Given the description of an element on the screen output the (x, y) to click on. 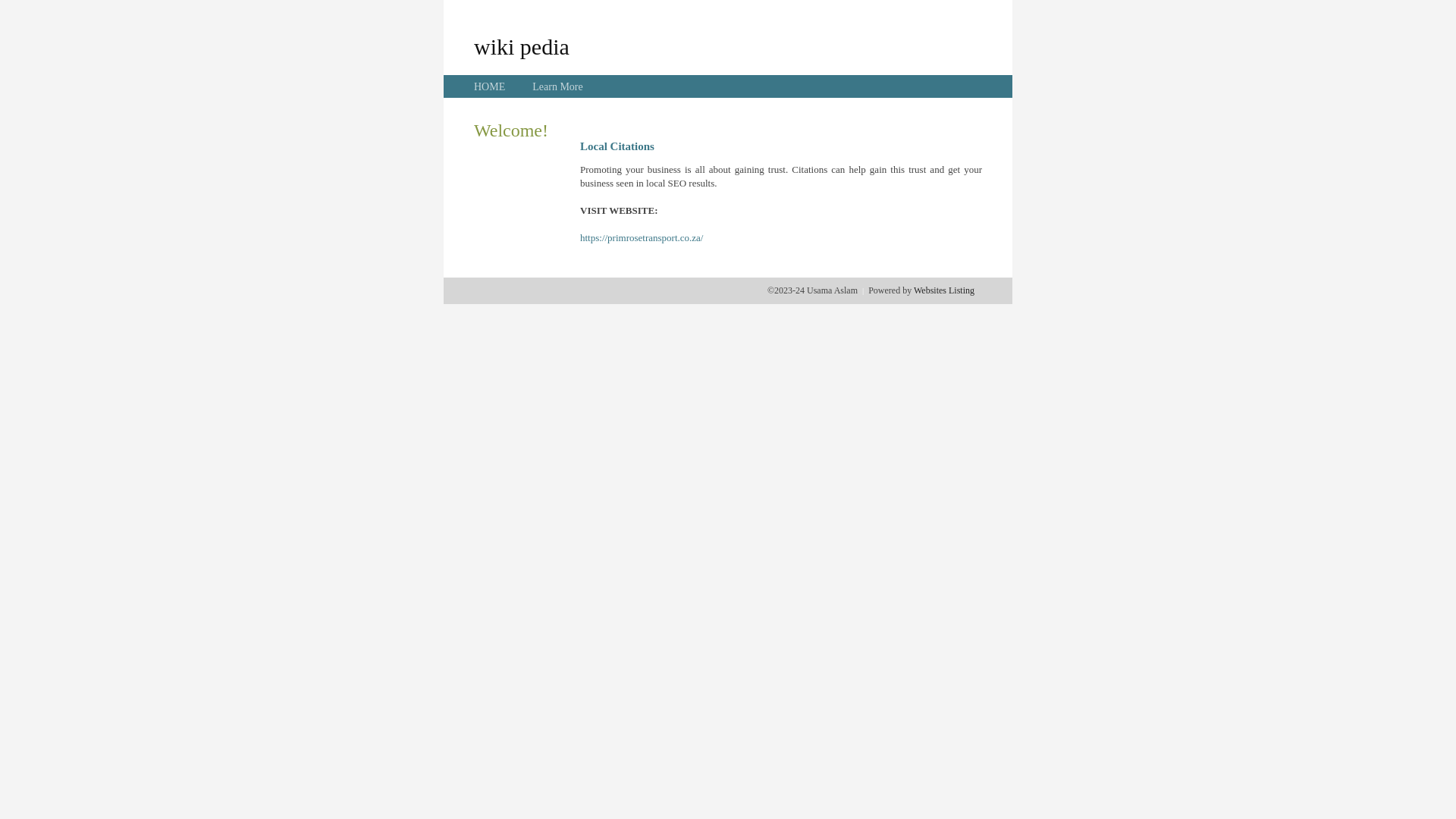
https://primrosetransport.co.za/ Element type: text (641, 237)
HOME Element type: text (489, 86)
wiki pedia Element type: text (521, 46)
Learn More Element type: text (557, 86)
Websites Listing Element type: text (943, 290)
